Given the description of an element on the screen output the (x, y) to click on. 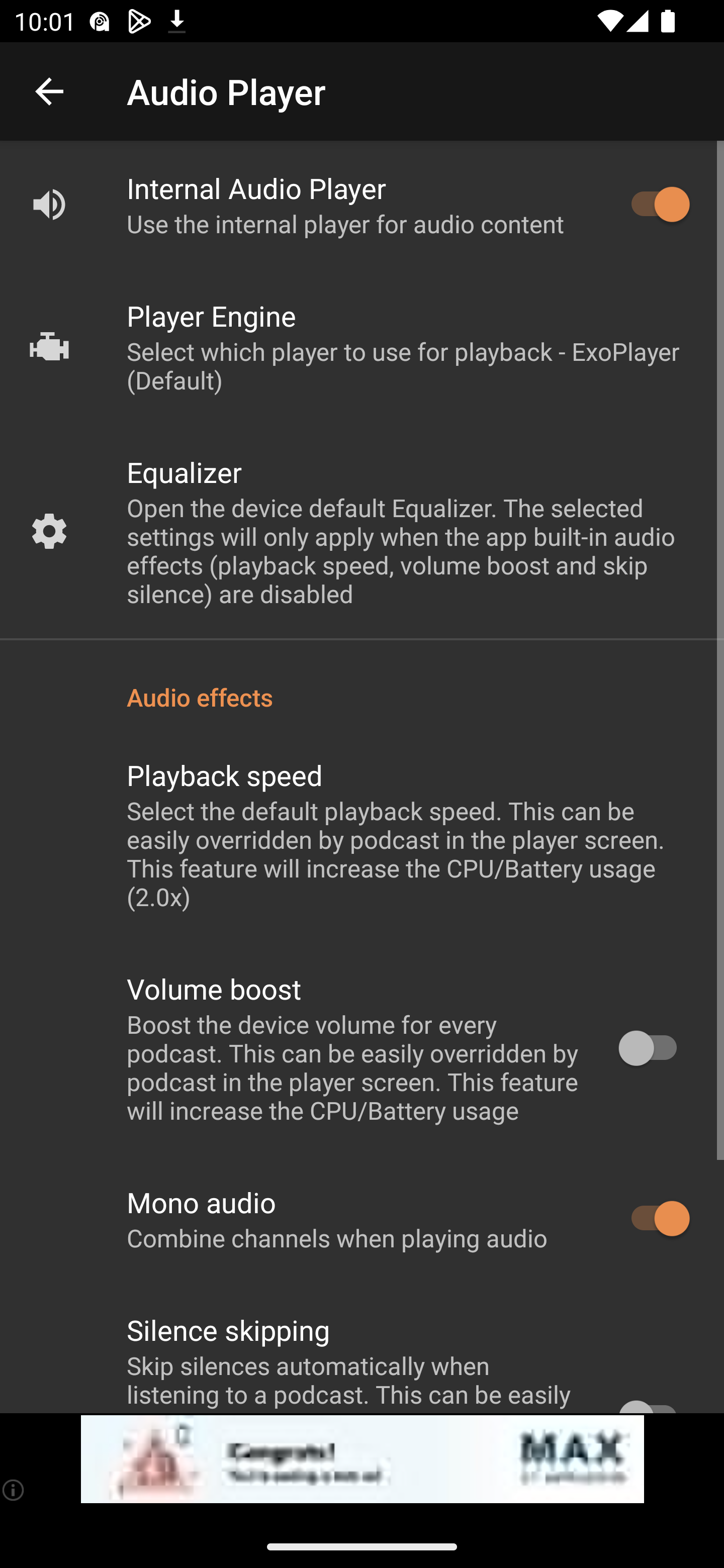
Navigate up (49, 91)
Mono audio Combine channels when playing audio (362, 1218)
app-monetization (362, 1459)
(i) (14, 1489)
